Given the description of an element on the screen output the (x, y) to click on. 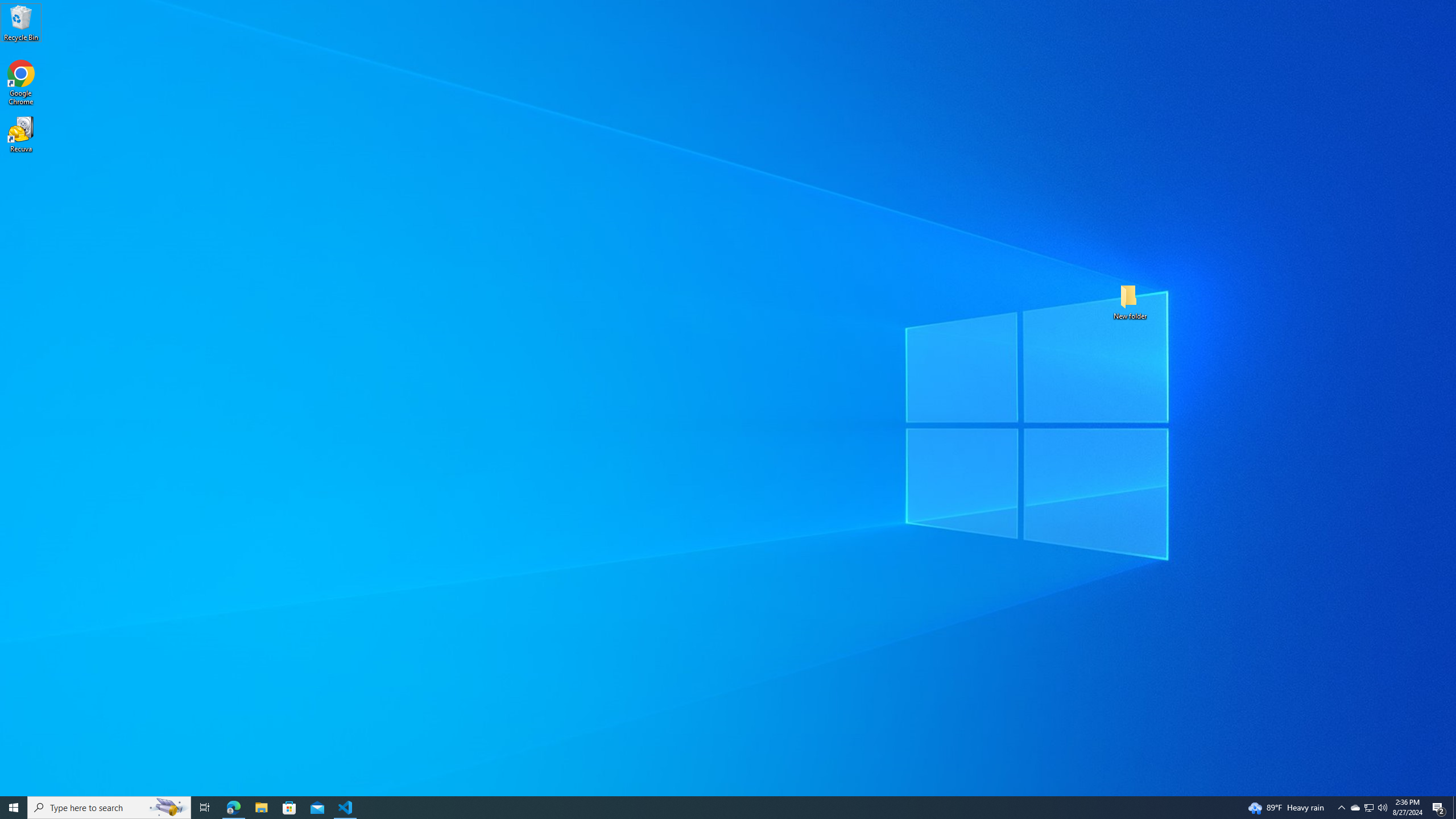
New folder (1130, 301)
Microsoft Store (289, 807)
Microsoft Edge - 1 running window (233, 807)
Running applications (1368, 807)
Google Chrome (717, 807)
Q2790: 100% (21, 82)
